Given the description of an element on the screen output the (x, y) to click on. 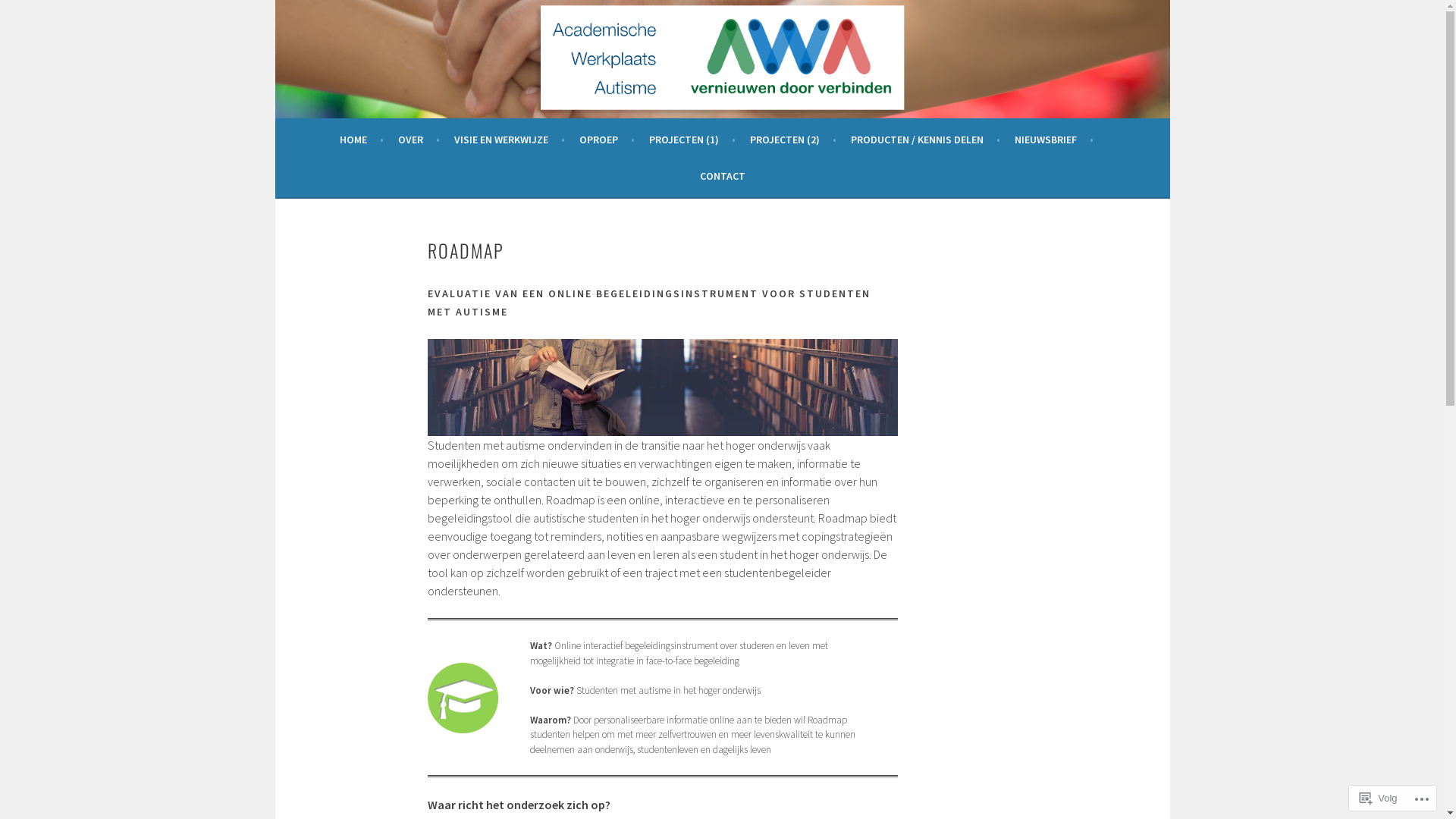
PROJECTEN (1) Element type: text (692, 139)
PROJECTEN (2) Element type: text (792, 139)
ACADEMISCHE WERKPLAATS AUTISME Element type: text (522, 72)
VISIE EN WERKWIJZE Element type: text (508, 139)
HOME Element type: text (361, 139)
OPROEP Element type: text (606, 139)
PRODUCTEN / KENNIS DELEN Element type: text (925, 139)
NIEUWSBRIEF Element type: text (1053, 139)
Volg Element type: text (1377, 797)
CONTACT Element type: text (721, 175)
OVER Element type: text (418, 139)
